Given the description of an element on the screen output the (x, y) to click on. 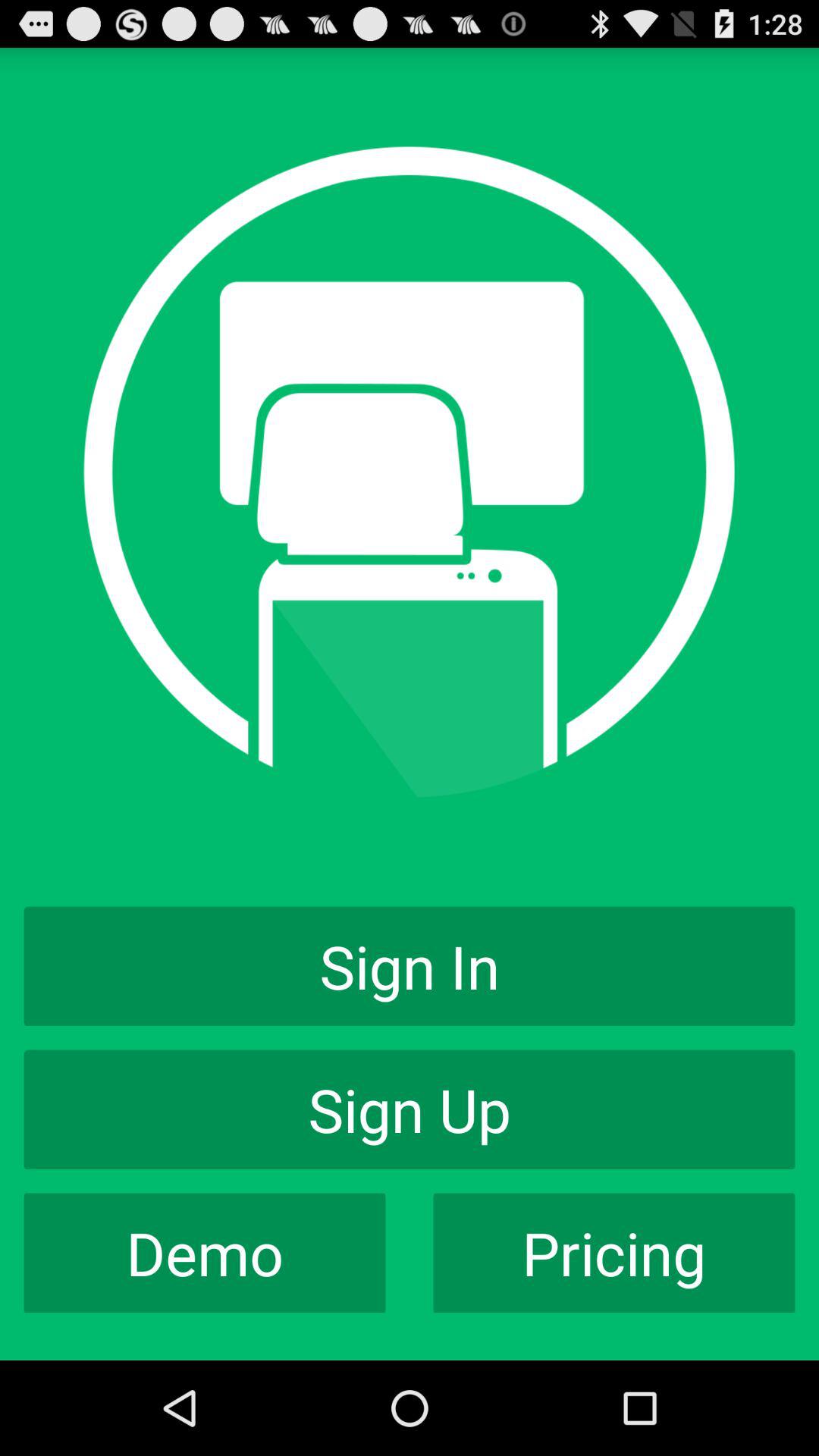
open the icon to the right of the demo item (614, 1252)
